Given the description of an element on the screen output the (x, y) to click on. 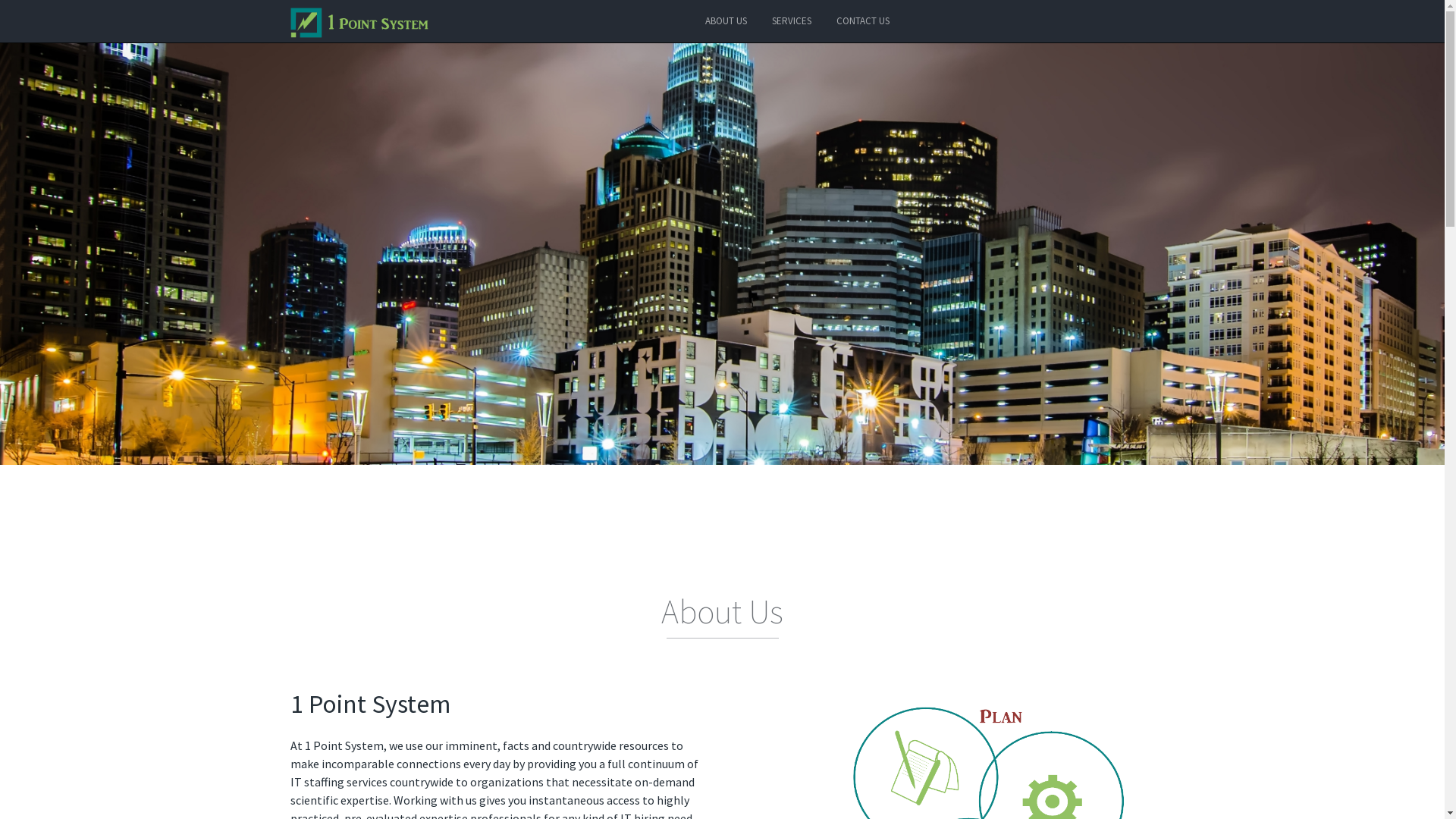
ABOUT US Element type: text (725, 21)
SERVICES Element type: text (791, 21)
CONTACT US Element type: text (862, 21)
